Given the description of an element on the screen output the (x, y) to click on. 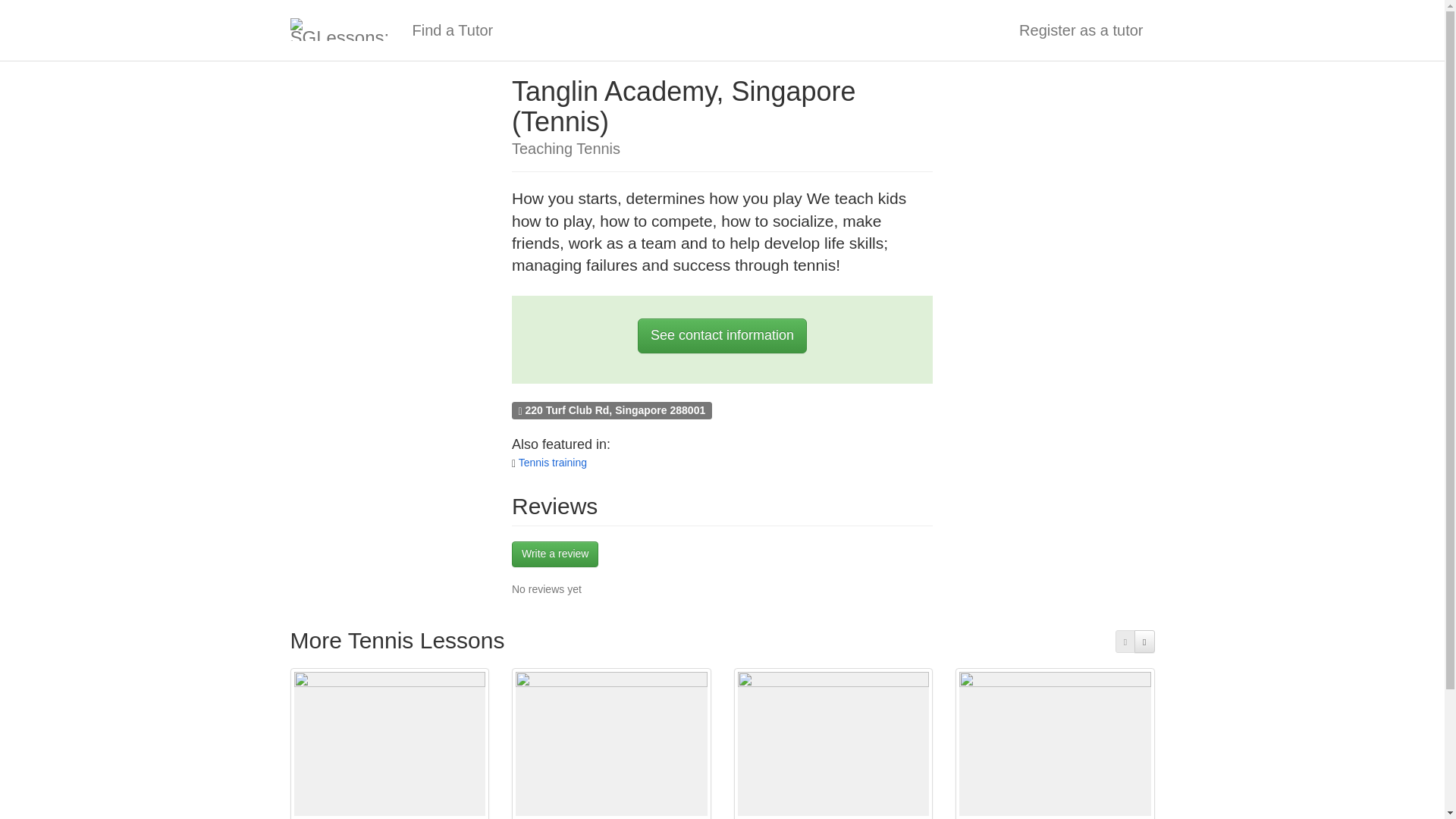
Tennis training (552, 462)
See contact information (721, 335)
Find a Tutor (451, 30)
Write a review (555, 554)
Register as a tutor (1080, 30)
